Given the description of an element on the screen output the (x, y) to click on. 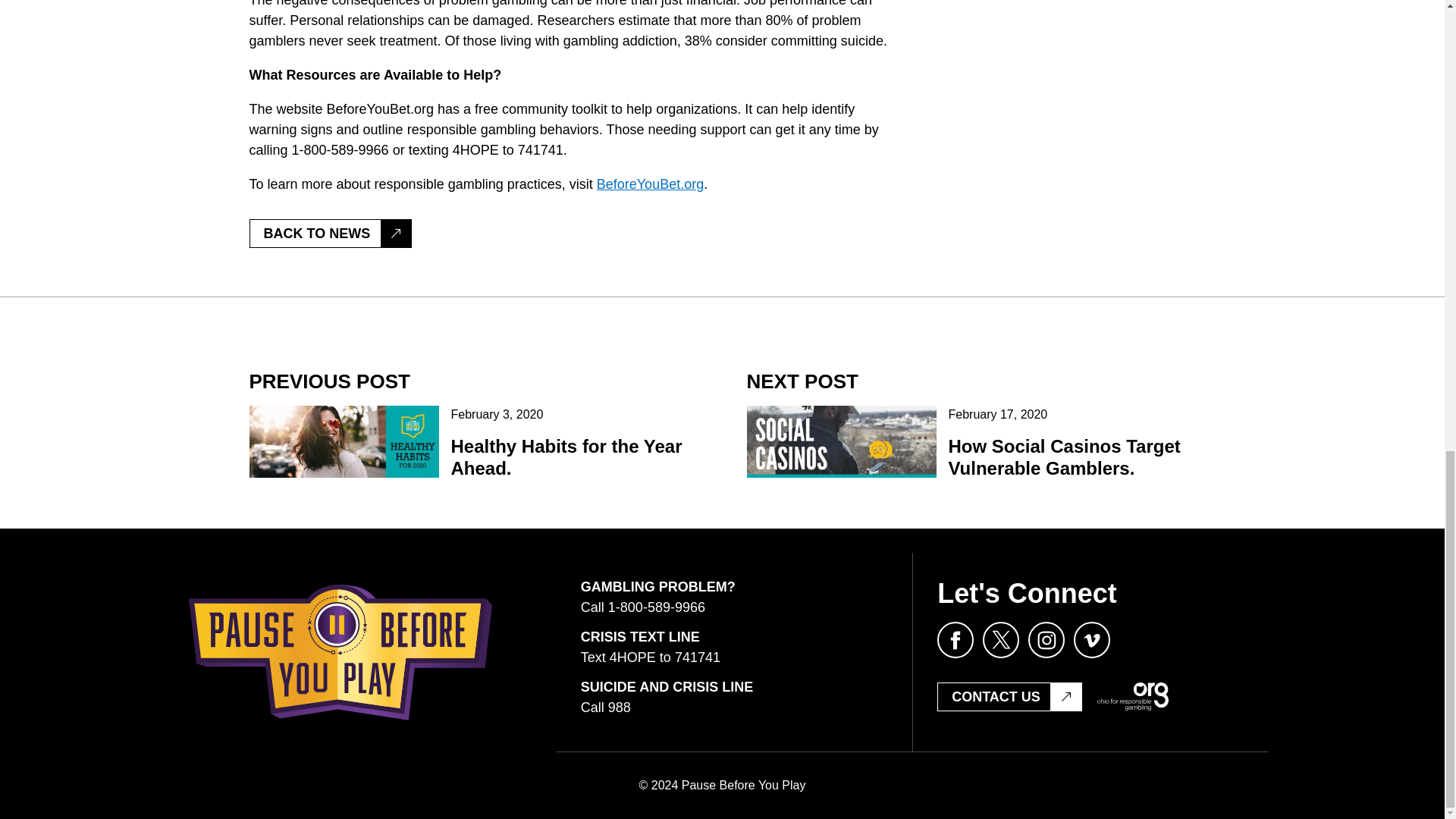
Facebook (955, 639)
1-800-589-9966 (656, 607)
Pause Before You Play (339, 651)
Healthy Habits for the Year Ahead. (565, 456)
Ohio for Responsible Gambling (1133, 696)
CONTACT US (1009, 696)
Vimeo (1091, 639)
How Social Casinos Target Vulnerable Gamblers. (1063, 456)
741741 (697, 657)
BeforeYouBet.org (649, 183)
